Given the description of an element on the screen output the (x, y) to click on. 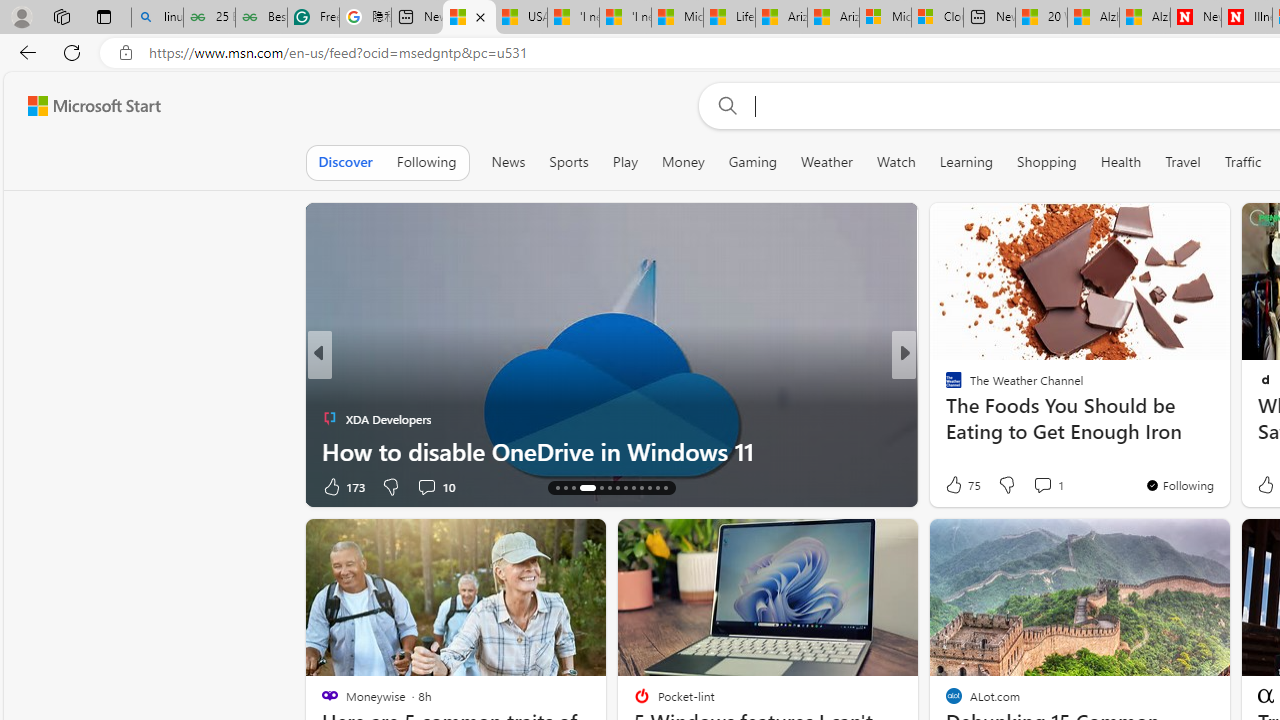
XDA Developers (329, 418)
AutomationID: tab-17 (587, 487)
20 Ways to Boost Your Protein Intake at Every Meal (1041, 17)
AutomationID: tab-20 (617, 487)
How to disable OneDrive in Windows 11 (611, 450)
1 Like (952, 486)
Hide this story (1169, 542)
Eat This, Not That! (944, 418)
